Given the description of an element on the screen output the (x, y) to click on. 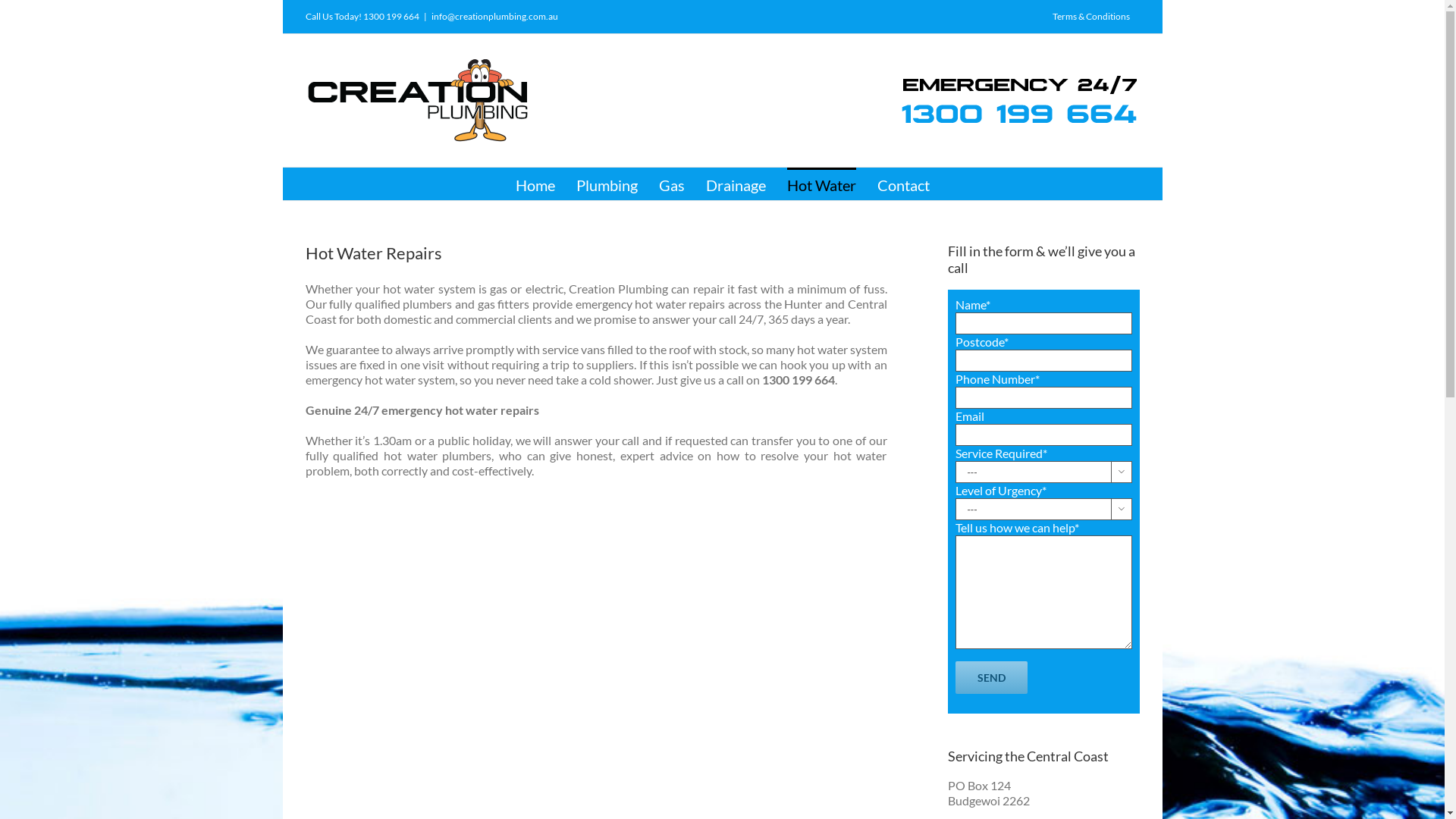
Send Element type: text (991, 677)
Contact Element type: text (902, 183)
Gas Element type: text (671, 183)
Drainage Element type: text (735, 183)
Terms & Conditions Element type: text (1090, 16)
Plumbing Element type: text (606, 183)
Hot Water Element type: text (821, 183)
info@creationplumbing.com.au Element type: text (493, 15)
Home Element type: text (535, 183)
